Given the description of an element on the screen output the (x, y) to click on. 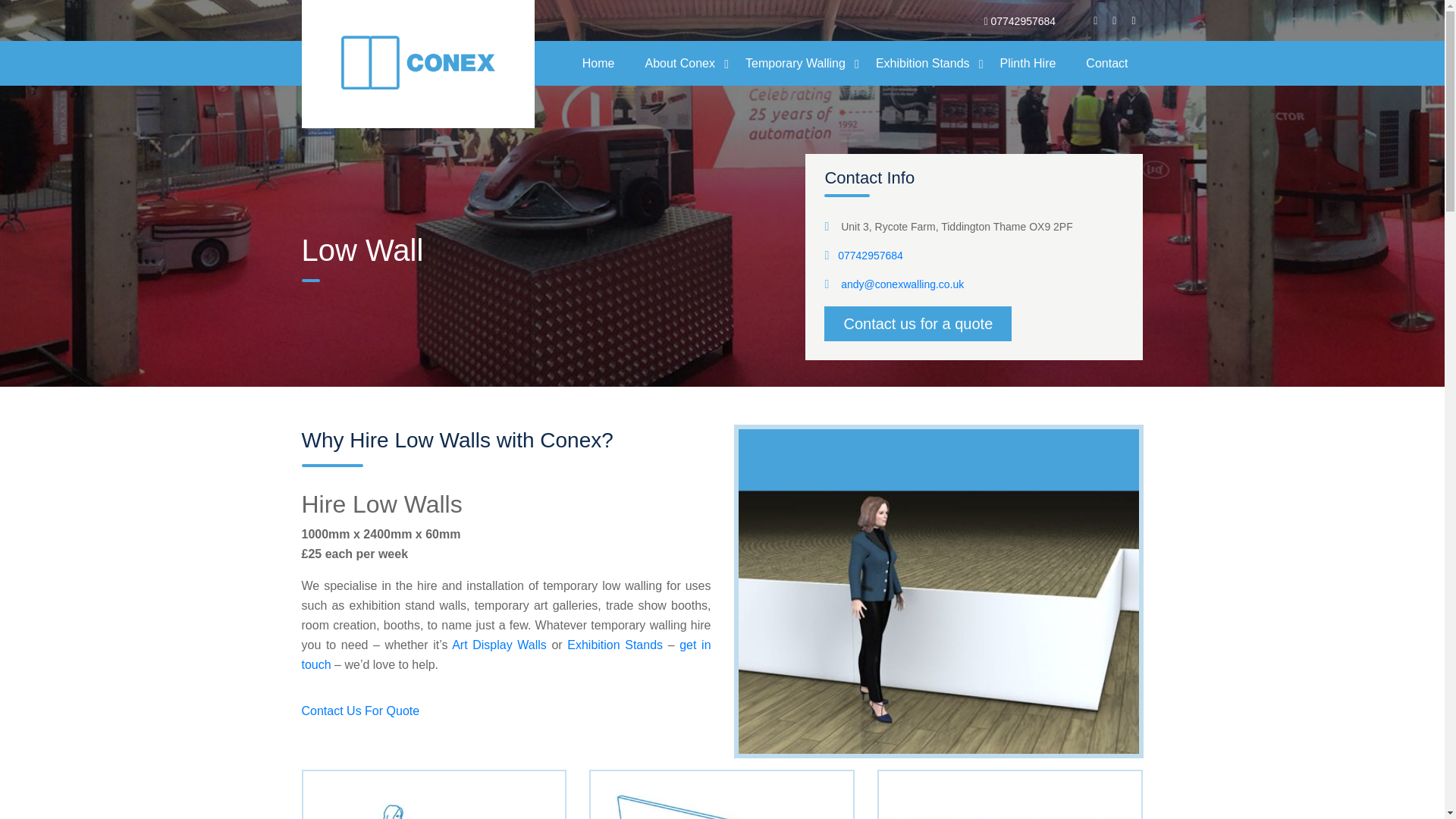
07742957684 (870, 255)
07742957684 (1022, 21)
Contact Us (360, 710)
Exhibition Stands (614, 644)
Home (598, 62)
Art Display Walls (499, 644)
Temporary Walling (795, 62)
About Conex (679, 62)
Contact (1106, 62)
Contact Us For Quote (360, 710)
Exhibition Stands (922, 62)
get in touch (506, 654)
Plinth Hire (1028, 62)
Contact us for a quote (917, 323)
